Given the description of an element on the screen output the (x, y) to click on. 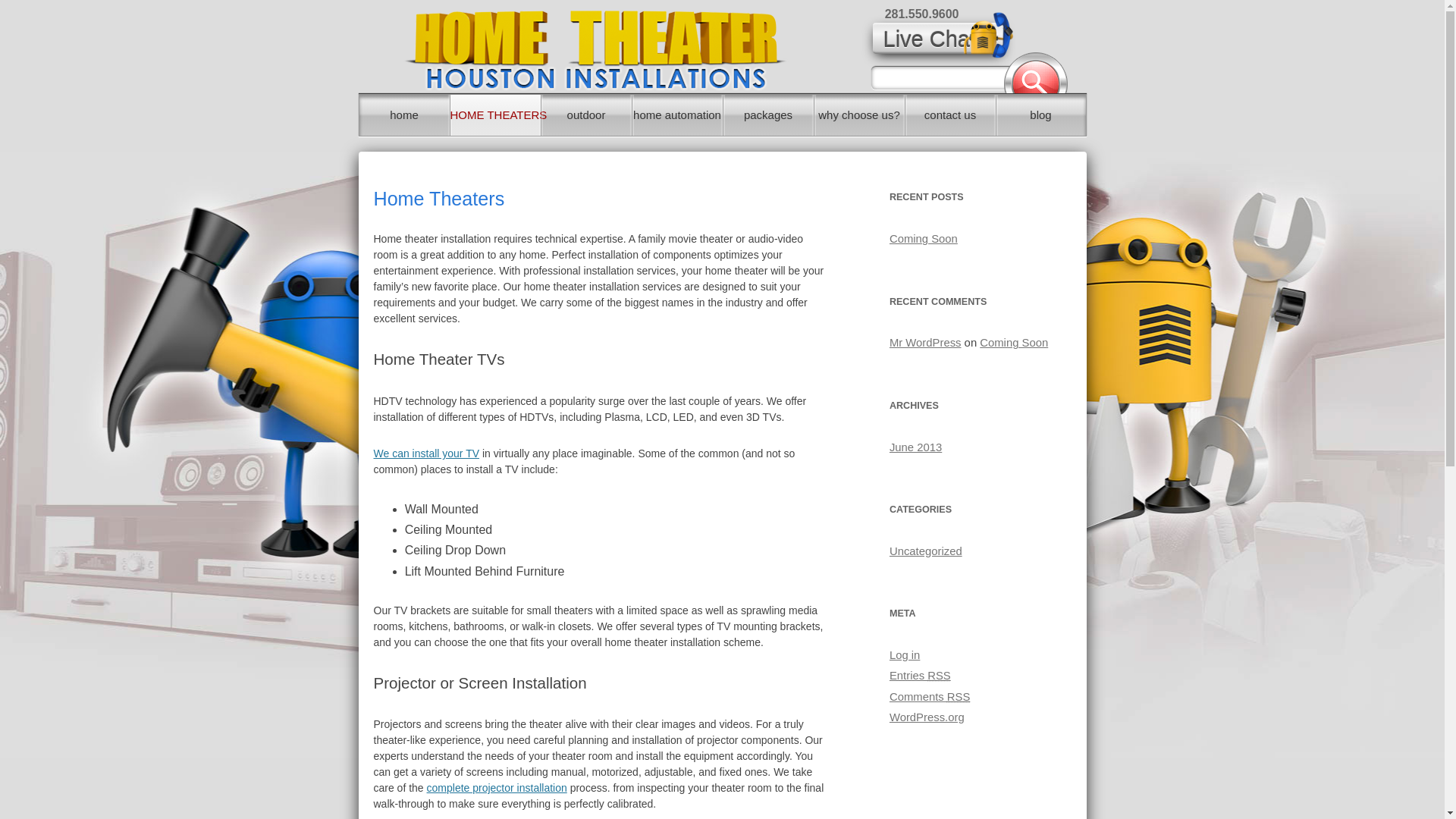
contact us (950, 115)
Uncategorized (925, 551)
View all posts filed under Uncategorized (925, 551)
WordPress.org (926, 717)
June 2013 (915, 447)
Comments RSS (929, 696)
blog (1040, 115)
packages (768, 115)
Coming Soon (1013, 342)
Search (1035, 72)
Search (1035, 72)
Mr WordPress (924, 342)
outdoor (586, 115)
Skip to content (762, 100)
